Given the description of an element on the screen output the (x, y) to click on. 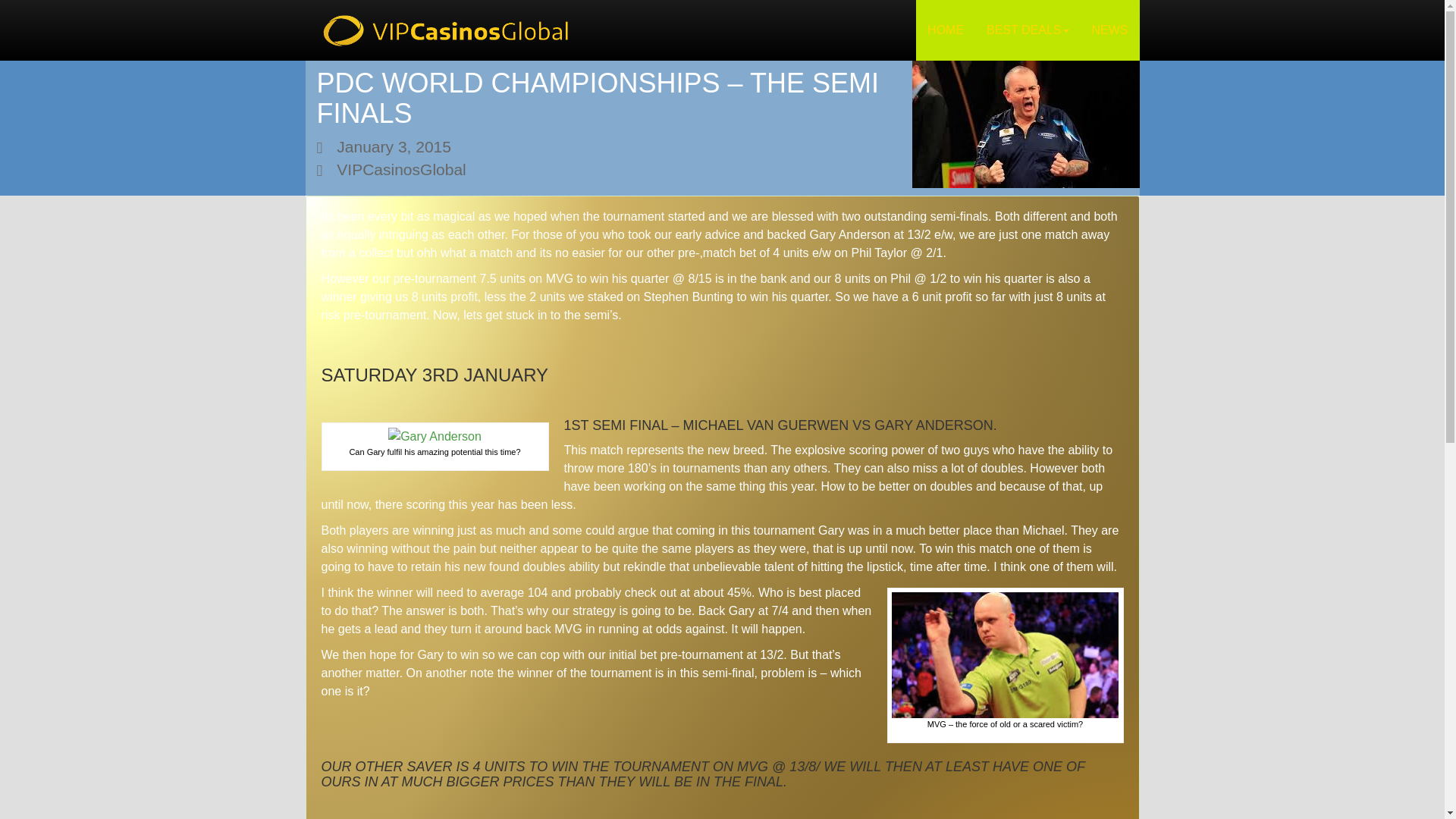
HOME (945, 30)
BEST DEALS (1027, 30)
NEWS (1109, 30)
VIP CASINOS GLOBAL (447, 30)
